Given the description of an element on the screen output the (x, y) to click on. 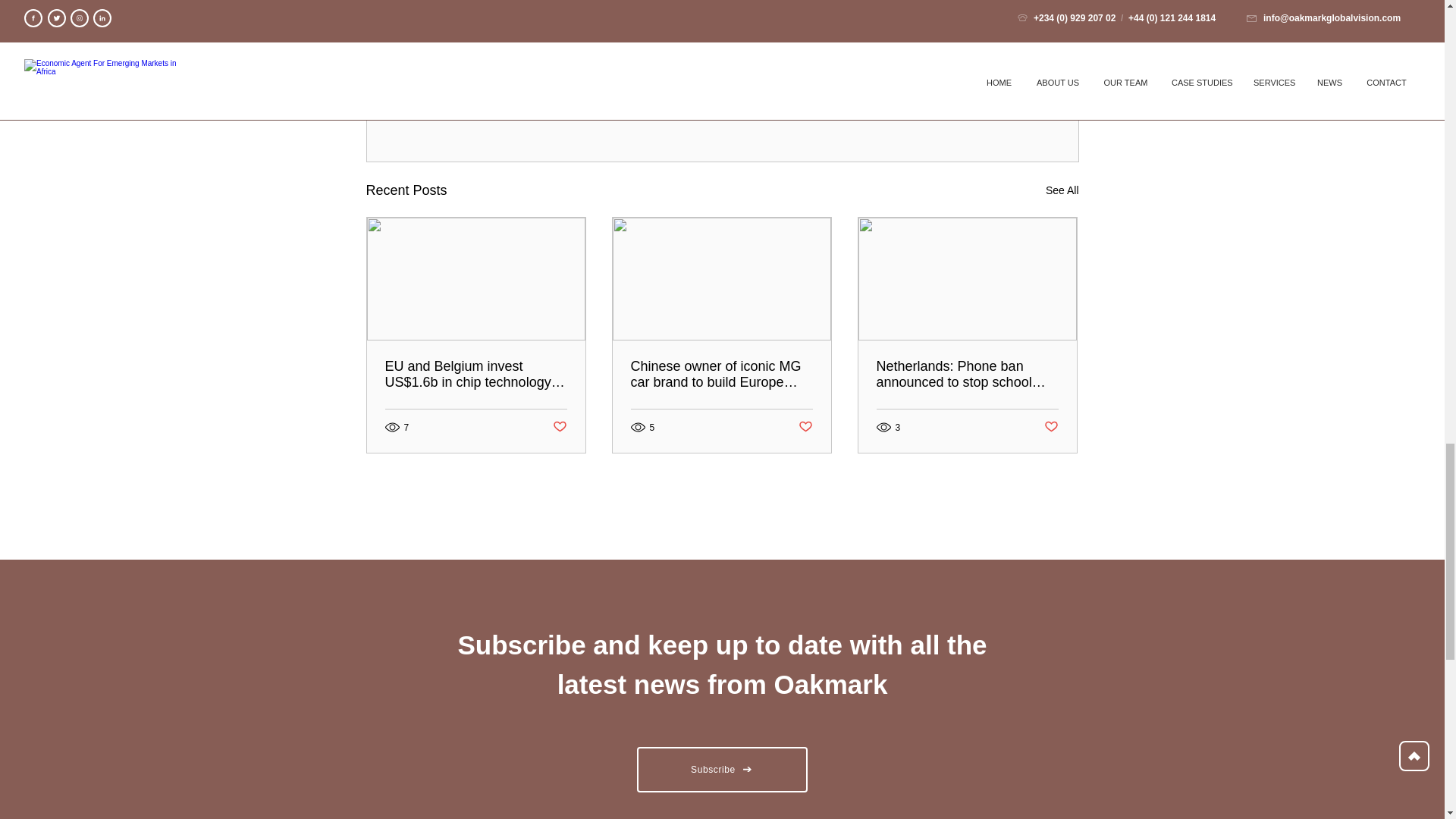
Post not marked as liked (995, 107)
Post not marked as liked (558, 426)
Post not marked as liked (1050, 426)
Subscribe (722, 769)
Post not marked as liked (804, 426)
Chinese owner of iconic MG car brand to build Europe plant (721, 374)
Netherlands: Phone ban announced to stop school disruptions (967, 374)
Europe Business News (948, 61)
See All (1061, 190)
